Given the description of an element on the screen output the (x, y) to click on. 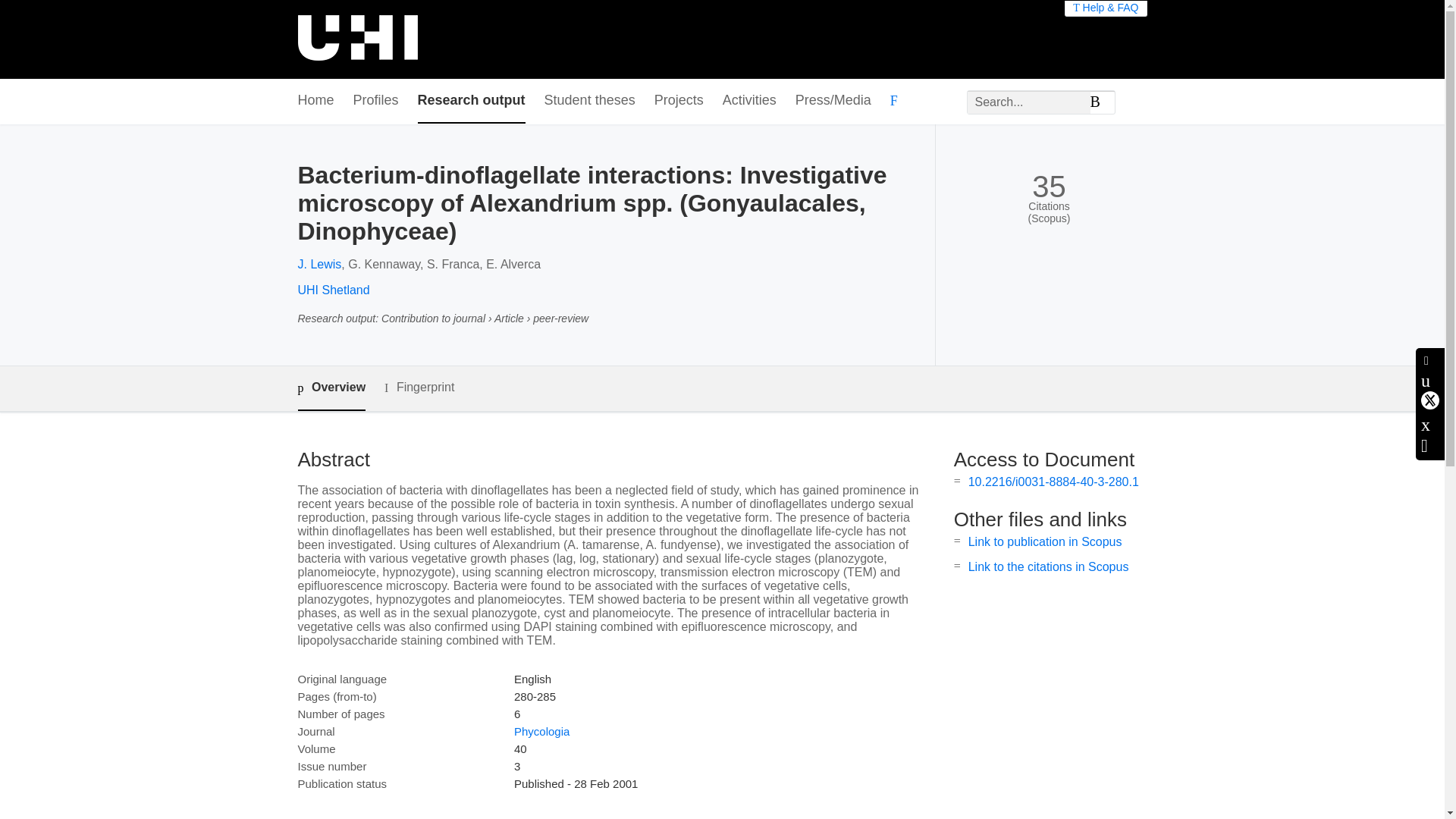
Phycologia (541, 730)
UHI Shetland (333, 289)
Activities (749, 100)
J. Lewis (318, 264)
Projects (678, 100)
Link to the citations in Scopus (1048, 566)
Overview (331, 388)
Fingerprint (419, 387)
University of the Highlands and Islands Home (356, 39)
Profiles (375, 100)
Research output (471, 100)
Link to publication in Scopus (1045, 541)
Student theses (589, 100)
